Given the description of an element on the screen output the (x, y) to click on. 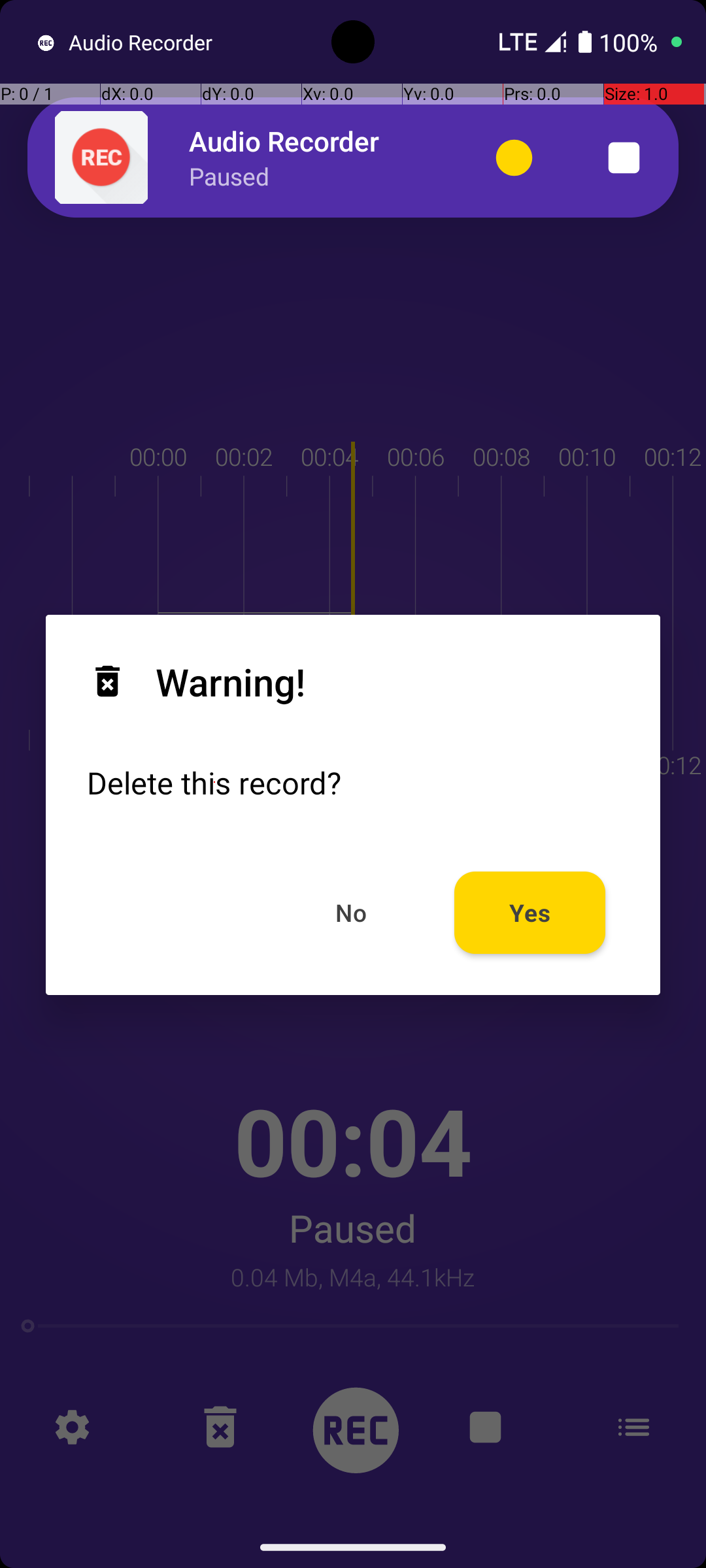
Warning! Element type: android.widget.TextView (195, 680)
Delete this record? Element type: android.widget.TextView (213, 781)
No Element type: android.widget.Button (350, 912)
Yes Element type: android.widget.Button (529, 912)
Paused Element type: android.widget.TextView (228, 175)
